Given the description of an element on the screen output the (x, y) to click on. 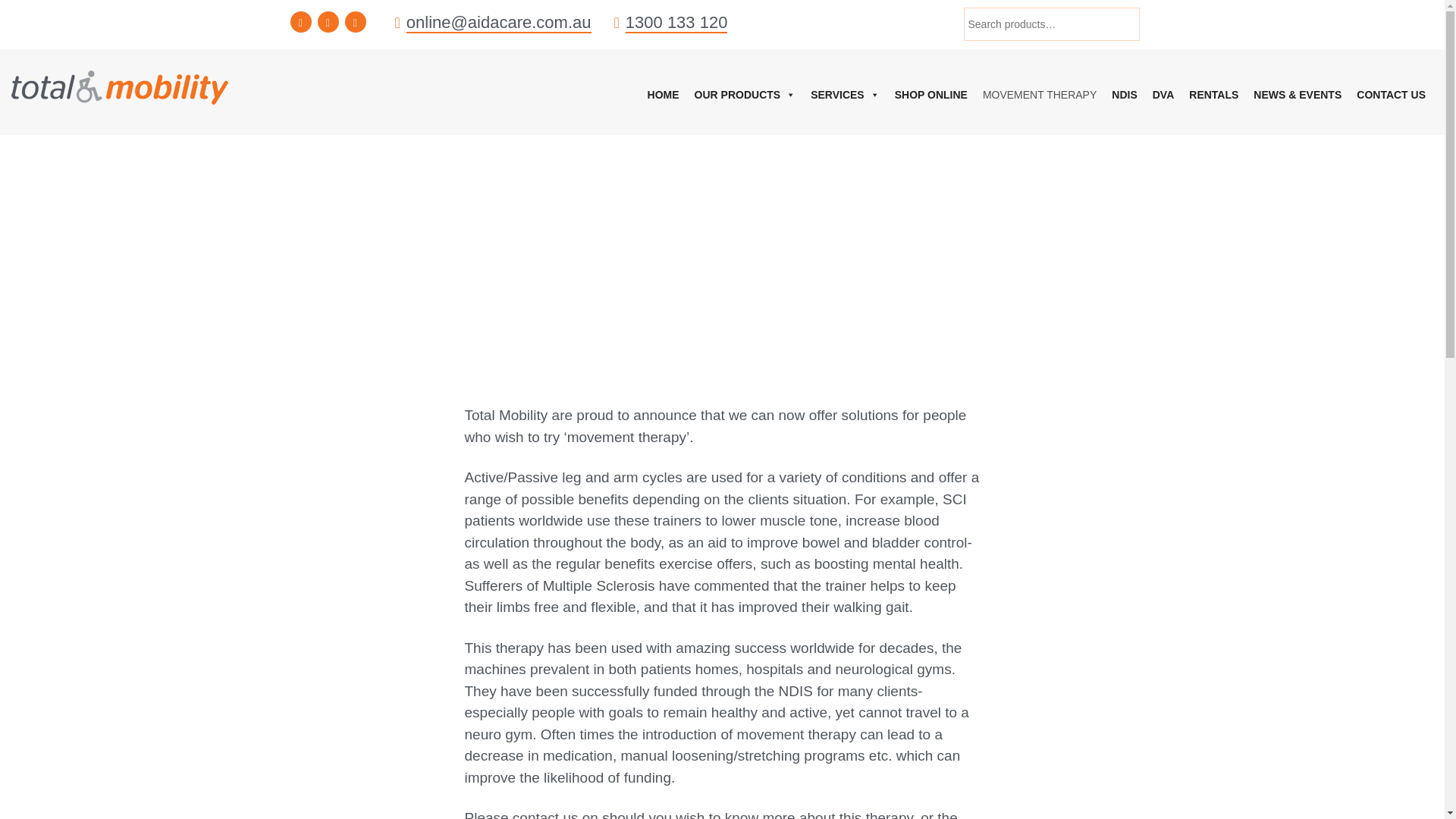
Instagram (354, 21)
HOME (663, 94)
1300 133 120 (677, 23)
YouTube (327, 21)
OUR PRODUCTS (745, 94)
Facebook (300, 21)
